Given the description of an element on the screen output the (x, y) to click on. 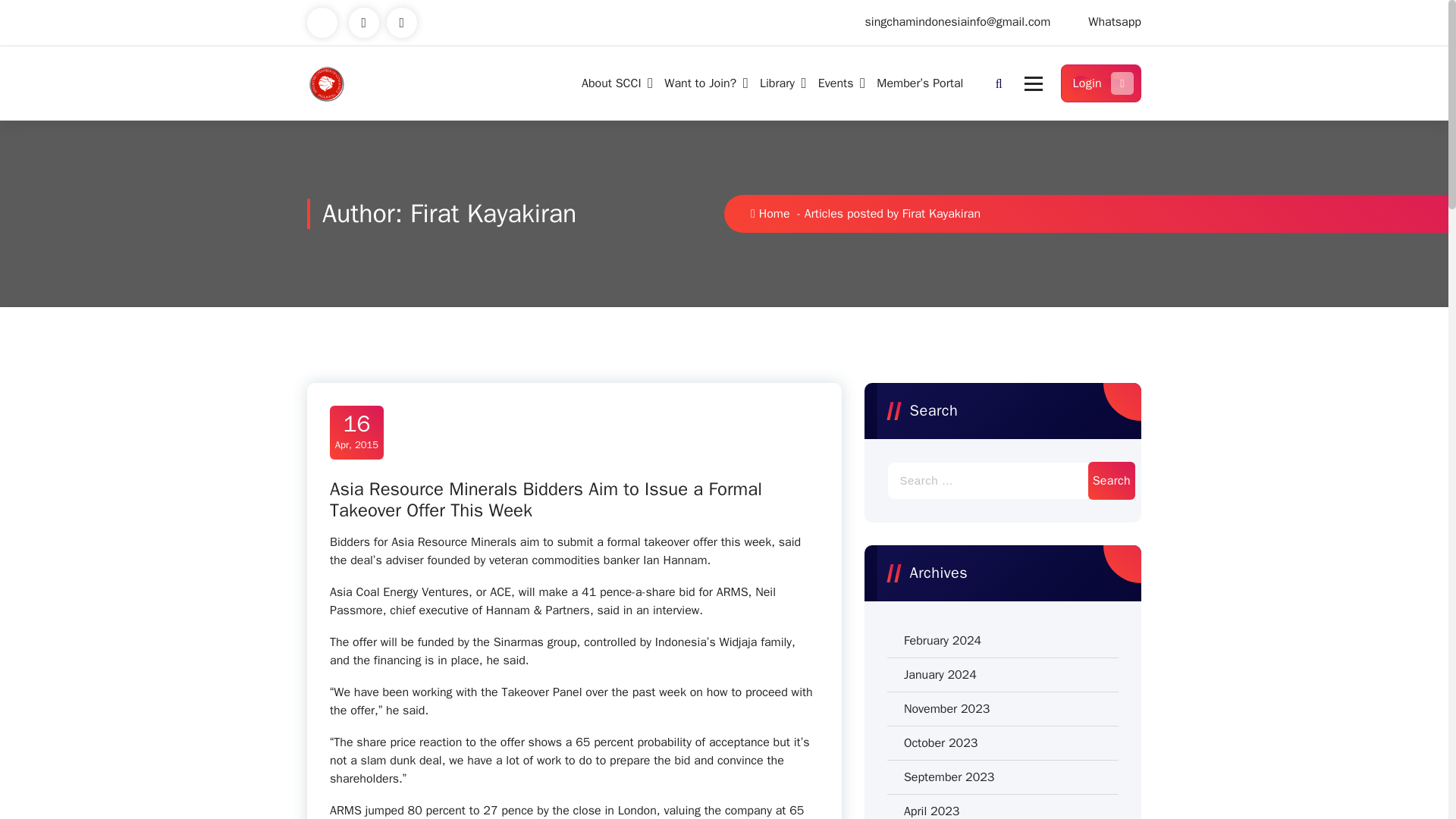
Search (1111, 566)
Search (1111, 480)
Whatsapp (1114, 22)
Search (1111, 566)
Search (1111, 480)
About SCCI (614, 82)
